Given the description of an element on the screen output the (x, y) to click on. 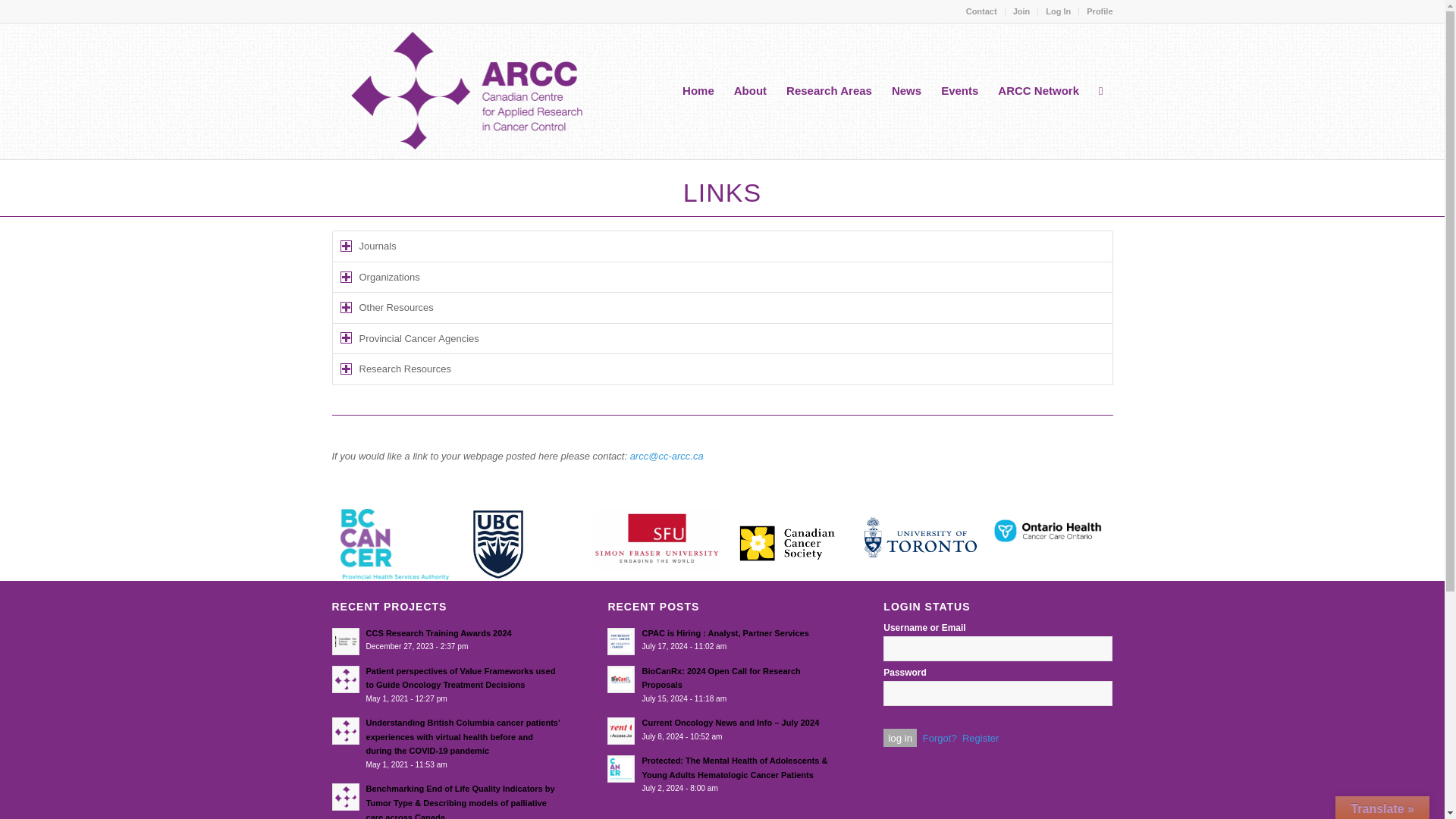
Log In (1057, 11)
CPAC is Hiring : Analyst, Partner Services (721, 639)
BioCanRx: 2024 Open Call for Research Proposals (721, 684)
log in (900, 737)
Contact (981, 11)
Profile (1099, 11)
CCS Research Training Awards 2024 (445, 639)
